Given the description of an element on the screen output the (x, y) to click on. 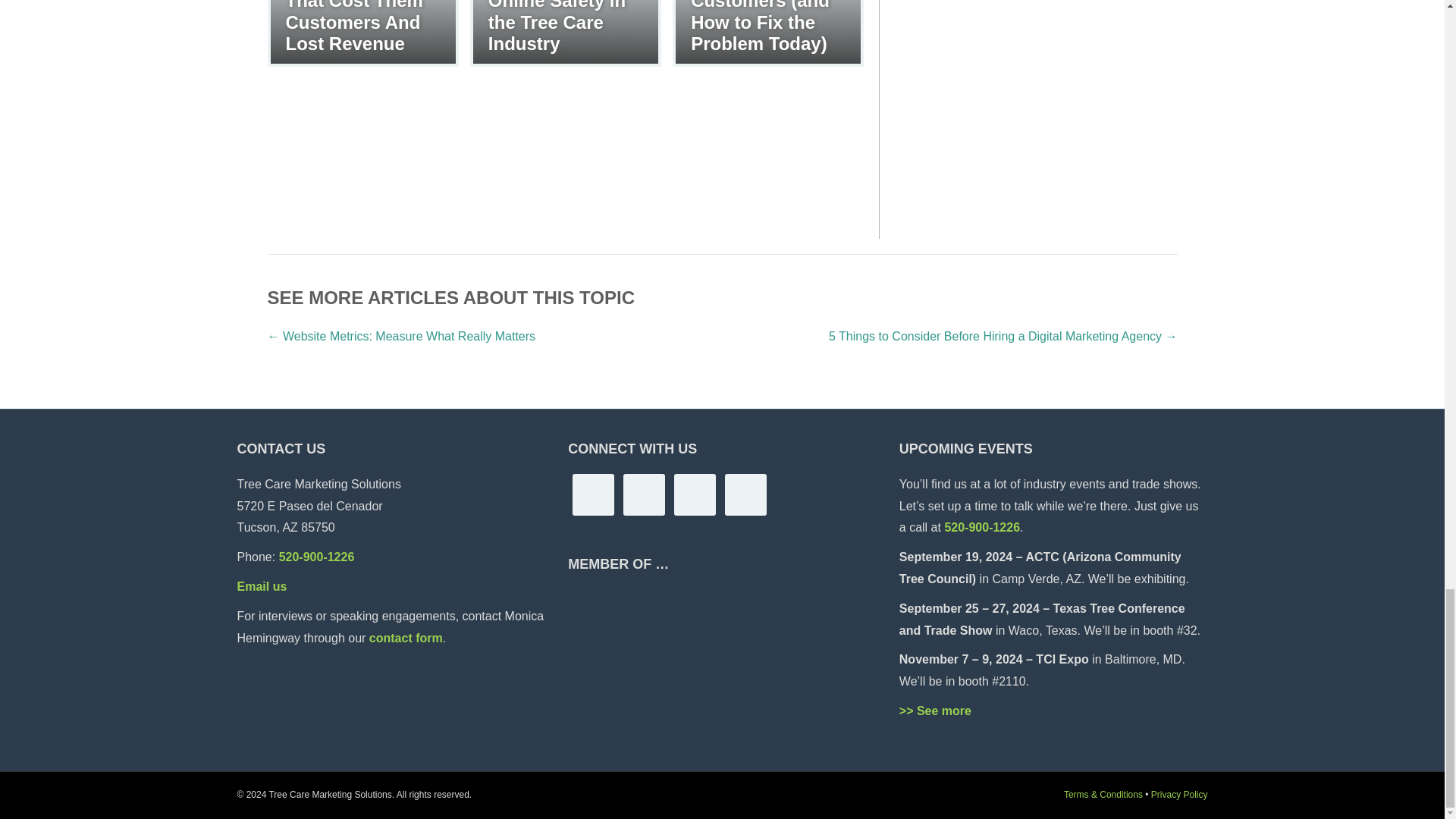
Online Safety in the Tree Care Industry (565, 31)
1 (1035, 82)
Online Safety in the Tree Care Industry (556, 27)
Online Safety in the Tree Care Industry (556, 27)
